Given the description of an element on the screen output the (x, y) to click on. 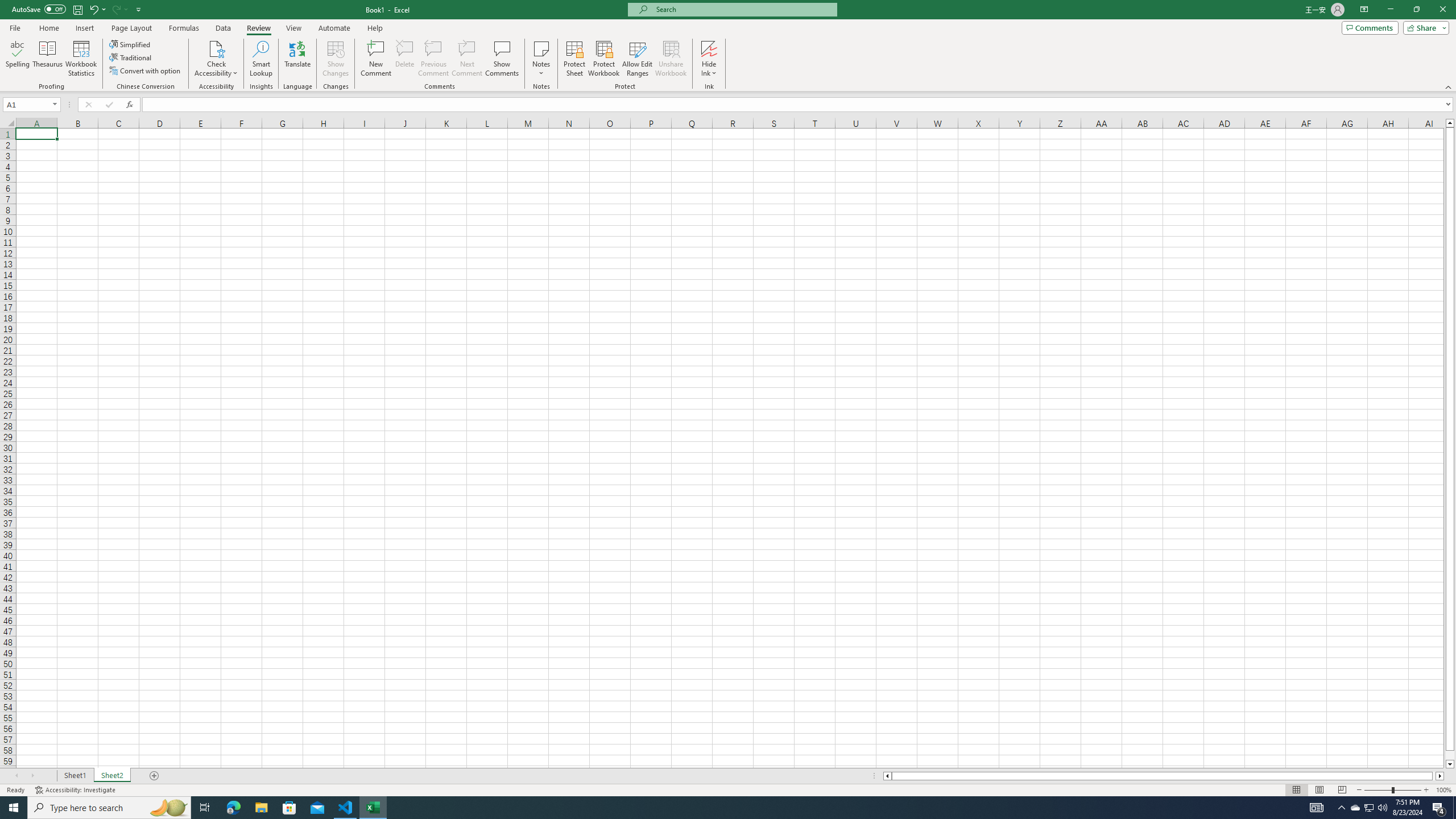
Traditional (131, 56)
Convert with option (145, 69)
Workbook Statistics (81, 58)
New Comment (376, 58)
Notes (541, 58)
